Given the description of an element on the screen output the (x, y) to click on. 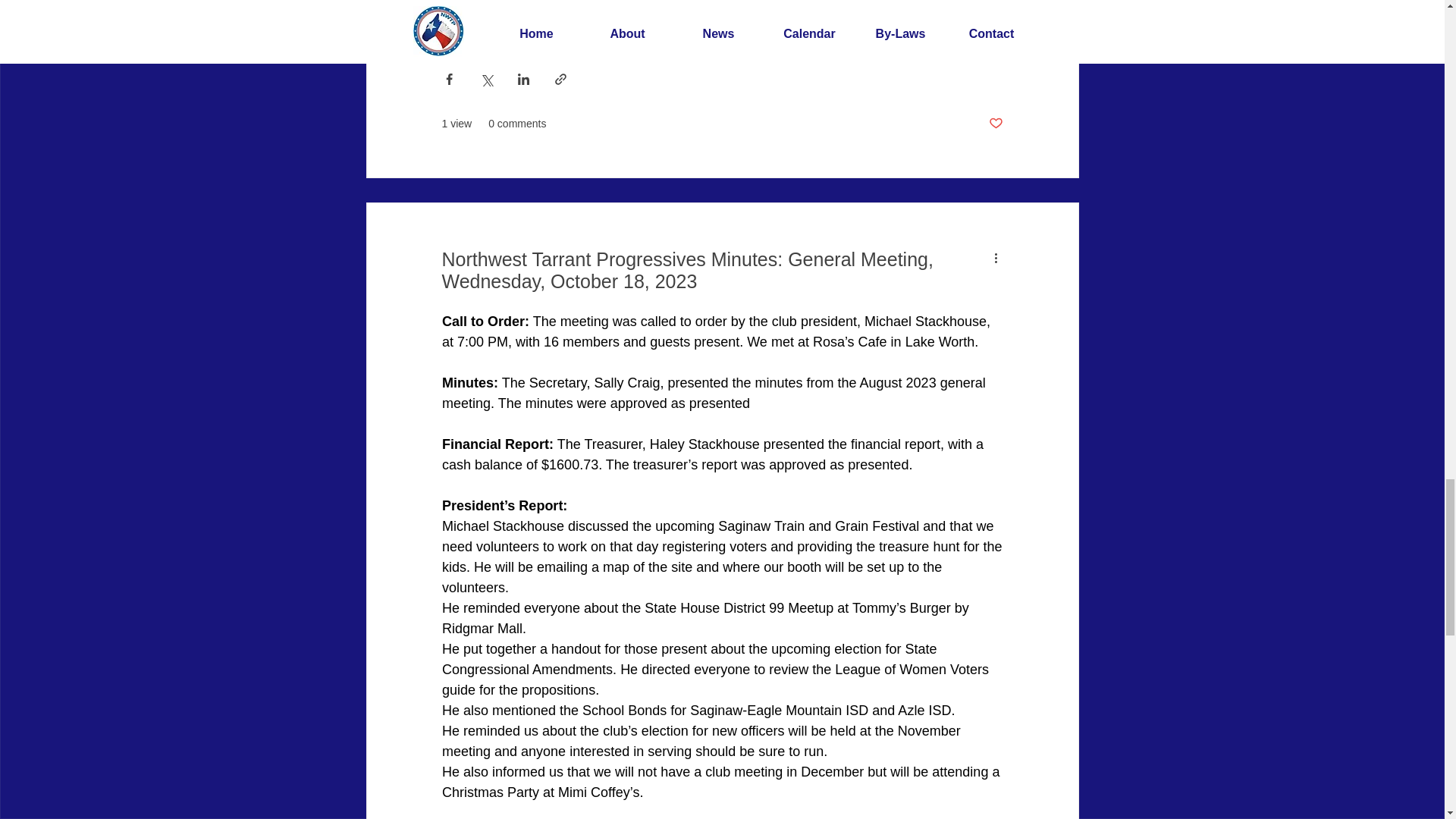
Post not marked as liked (995, 123)
0 comments (516, 123)
